Given the description of an element on the screen output the (x, y) to click on. 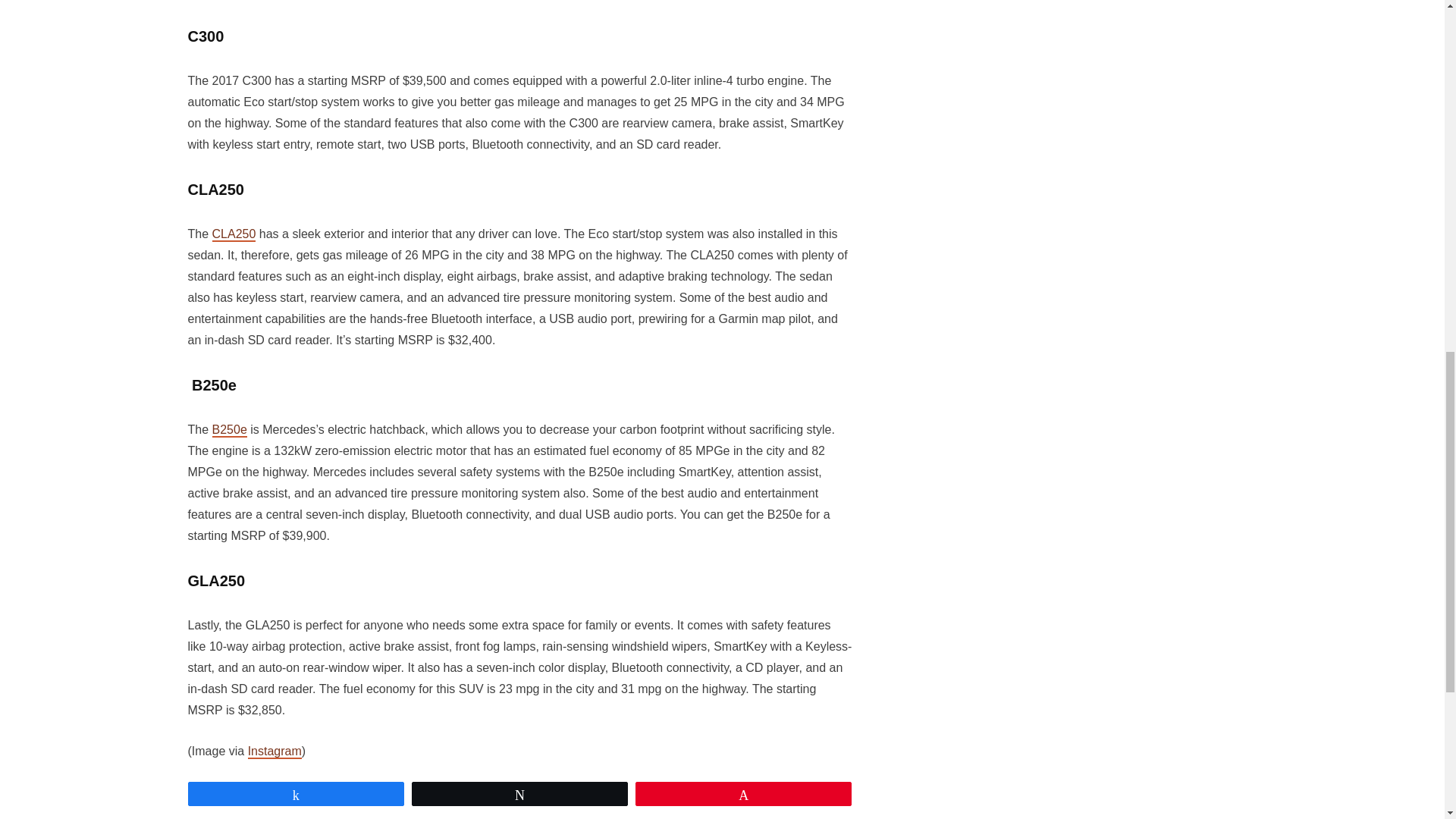
B250e (229, 430)
CLA250 (234, 234)
Instagram (274, 751)
